Given the description of an element on the screen output the (x, y) to click on. 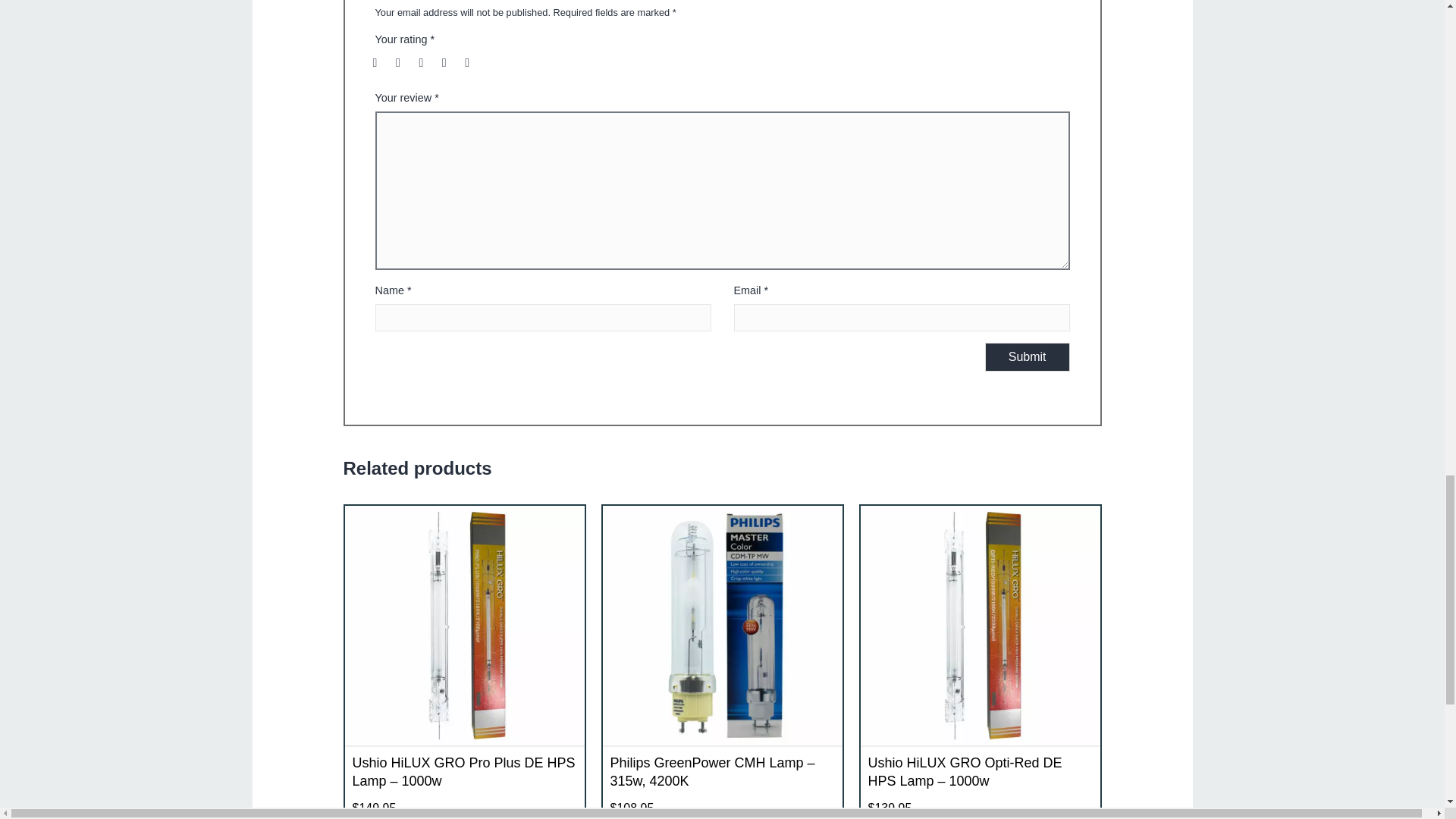
Submit (1027, 357)
